Given the description of an element on the screen output the (x, y) to click on. 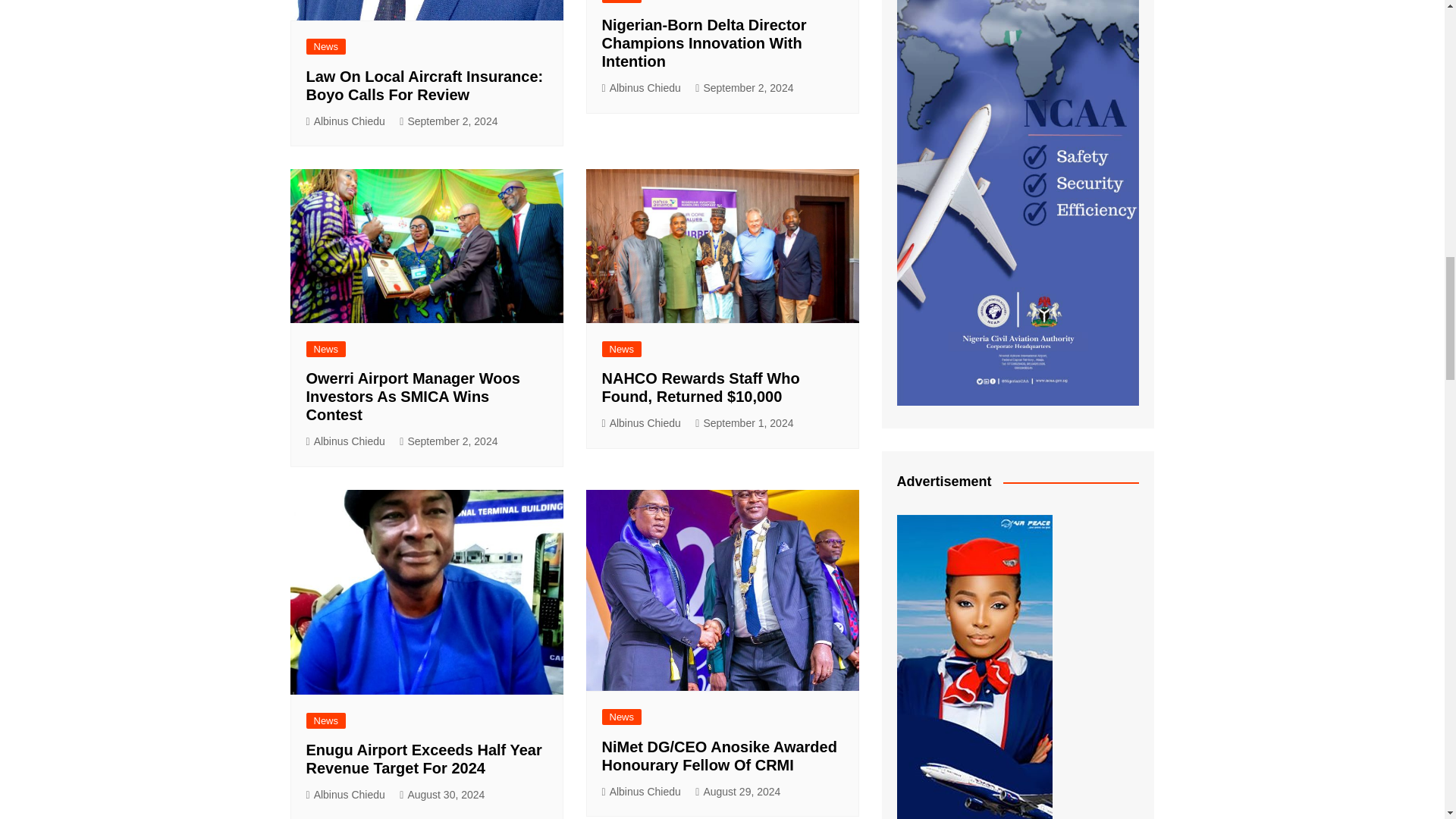
Albinus Chiedu (641, 88)
Law On Local Aircraft Insurance: Boyo Calls For Review (424, 85)
September 2, 2024 (744, 88)
September 2, 2024 (447, 121)
News (325, 46)
Albinus Chiedu (345, 121)
News (622, 1)
